Given the description of an element on the screen output the (x, y) to click on. 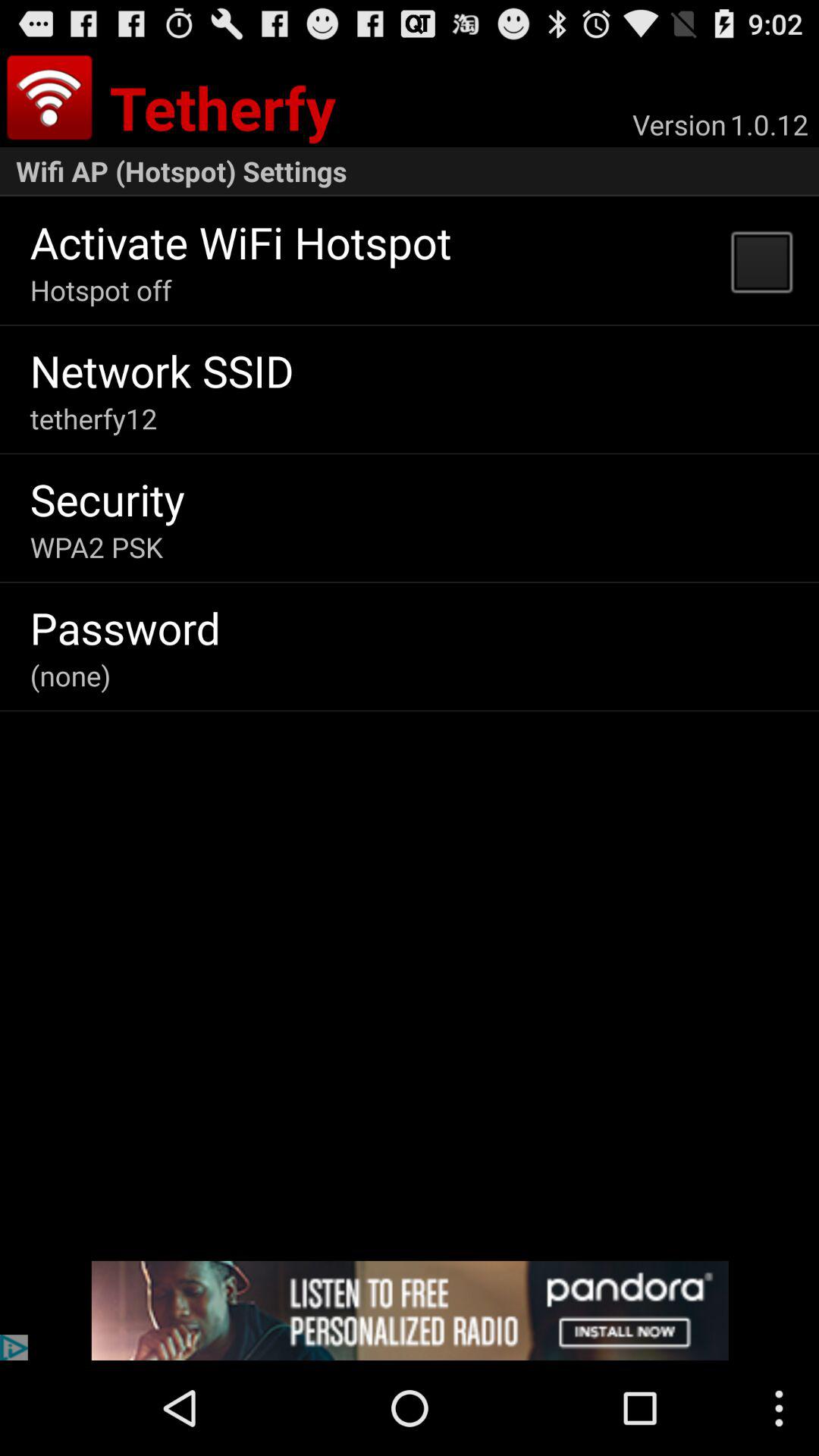
turn on the app above tetherfy12 (162, 370)
